Given the description of an element on the screen output the (x, y) to click on. 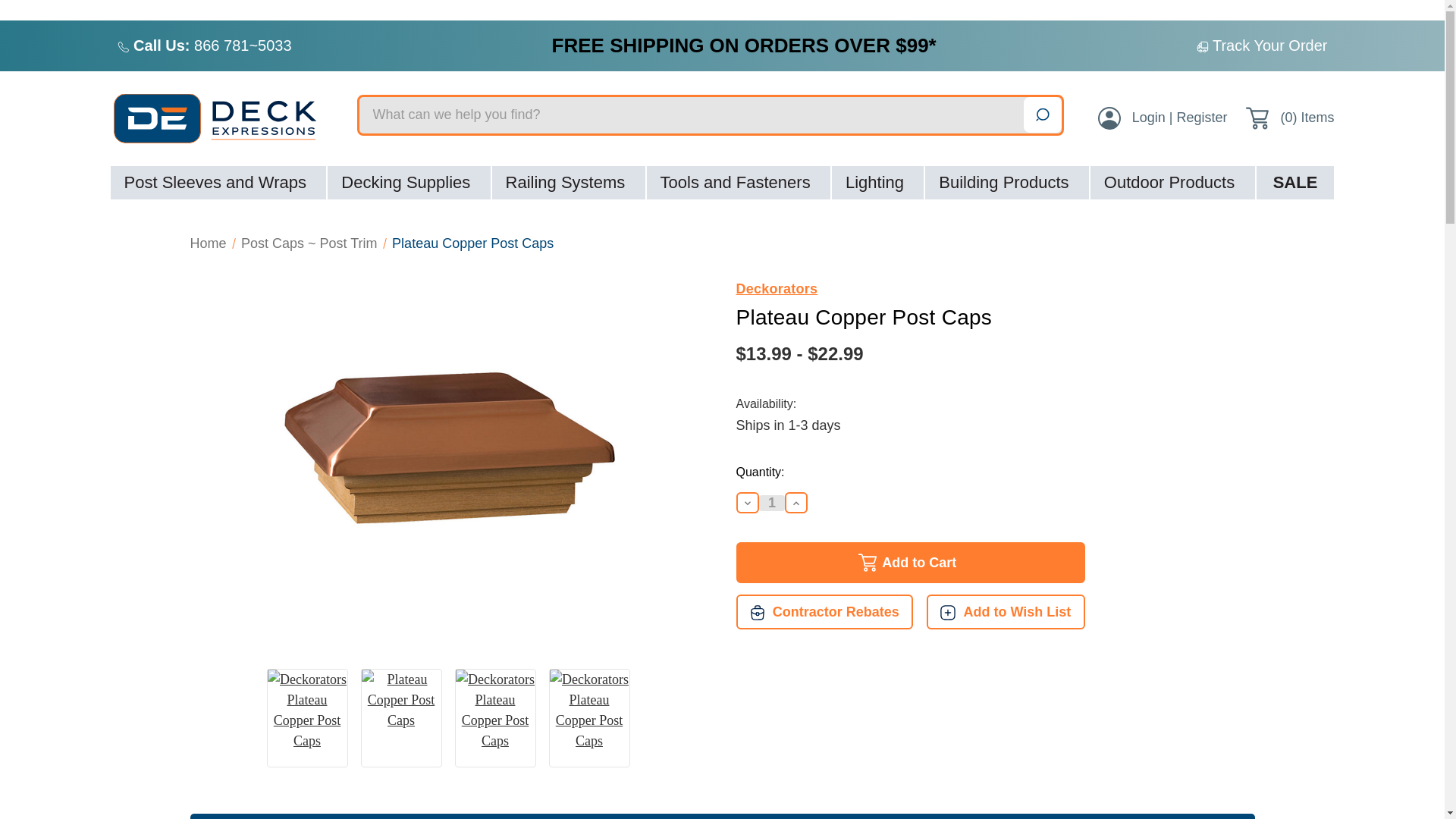
Deck Expressions (223, 118)
1 (771, 503)
Track Your Order (1269, 45)
Add to Cart (909, 562)
